Given the description of an element on the screen output the (x, y) to click on. 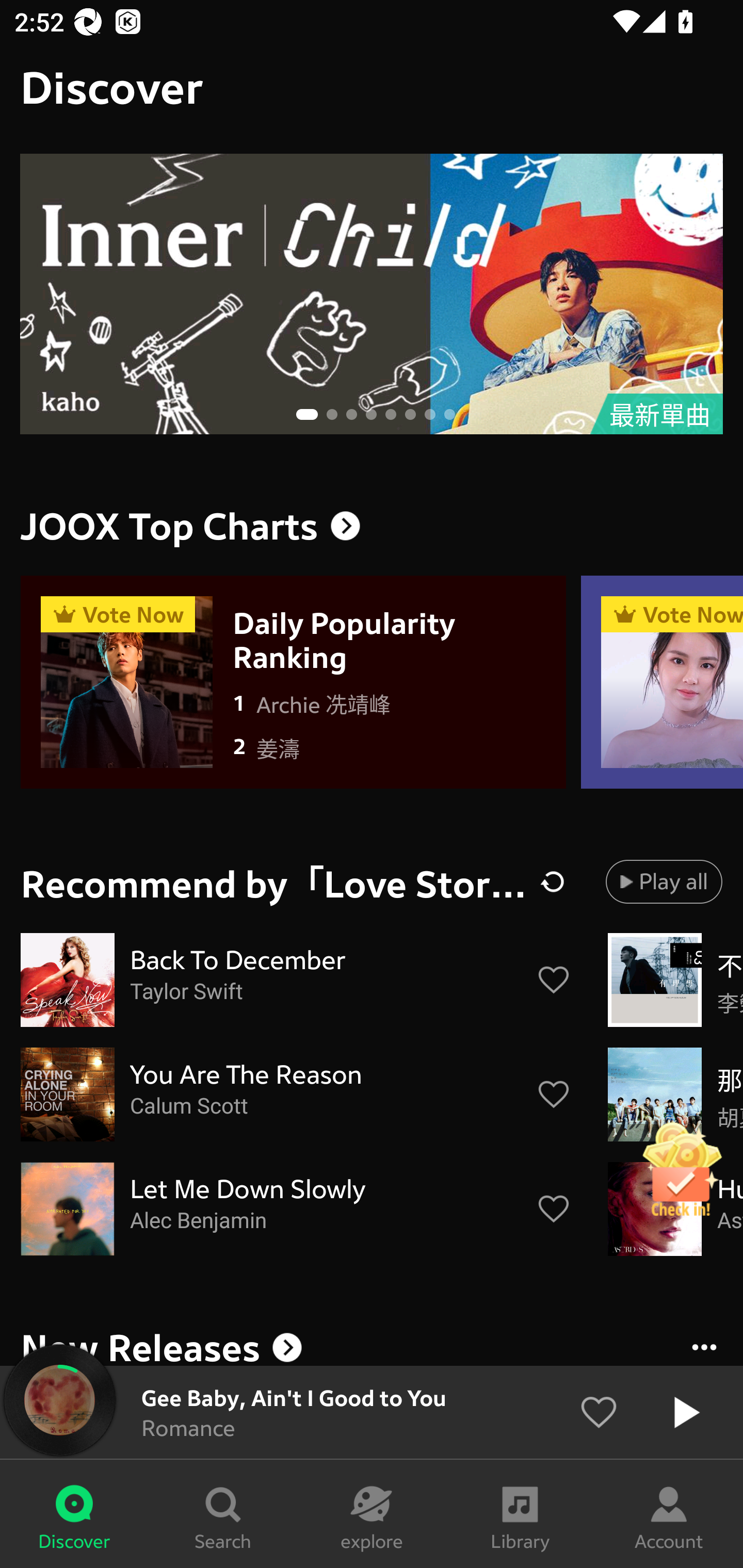
最新單曲   (371, 293)
JOOX Top Charts (371, 525)
Play all (663, 881)
Back To December Taylor Swift (295, 979)
You Are The Reason Calum Scott (295, 1094)
Let Me Down Slowly Alec Benjamin (295, 1208)
New Releases (371, 1344)
Gee Baby, Ain't I Good to You Romance (371, 1412)
Search (222, 1513)
explore (371, 1513)
Library (519, 1513)
Account (668, 1513)
